Given the description of an element on the screen output the (x, y) to click on. 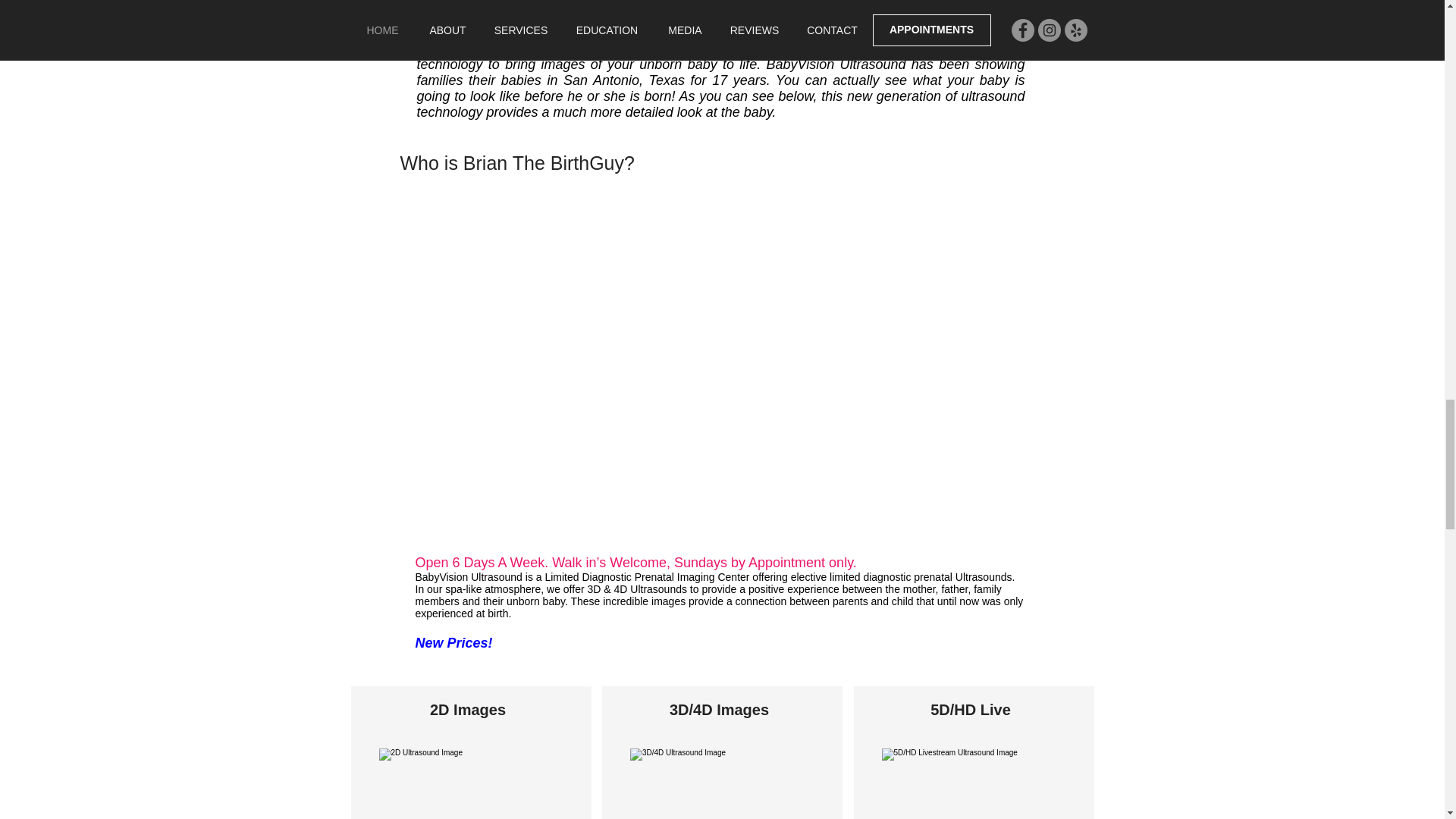
2D Ultrasound Image (470, 783)
New Prices! (453, 642)
